Given the description of an element on the screen output the (x, y) to click on. 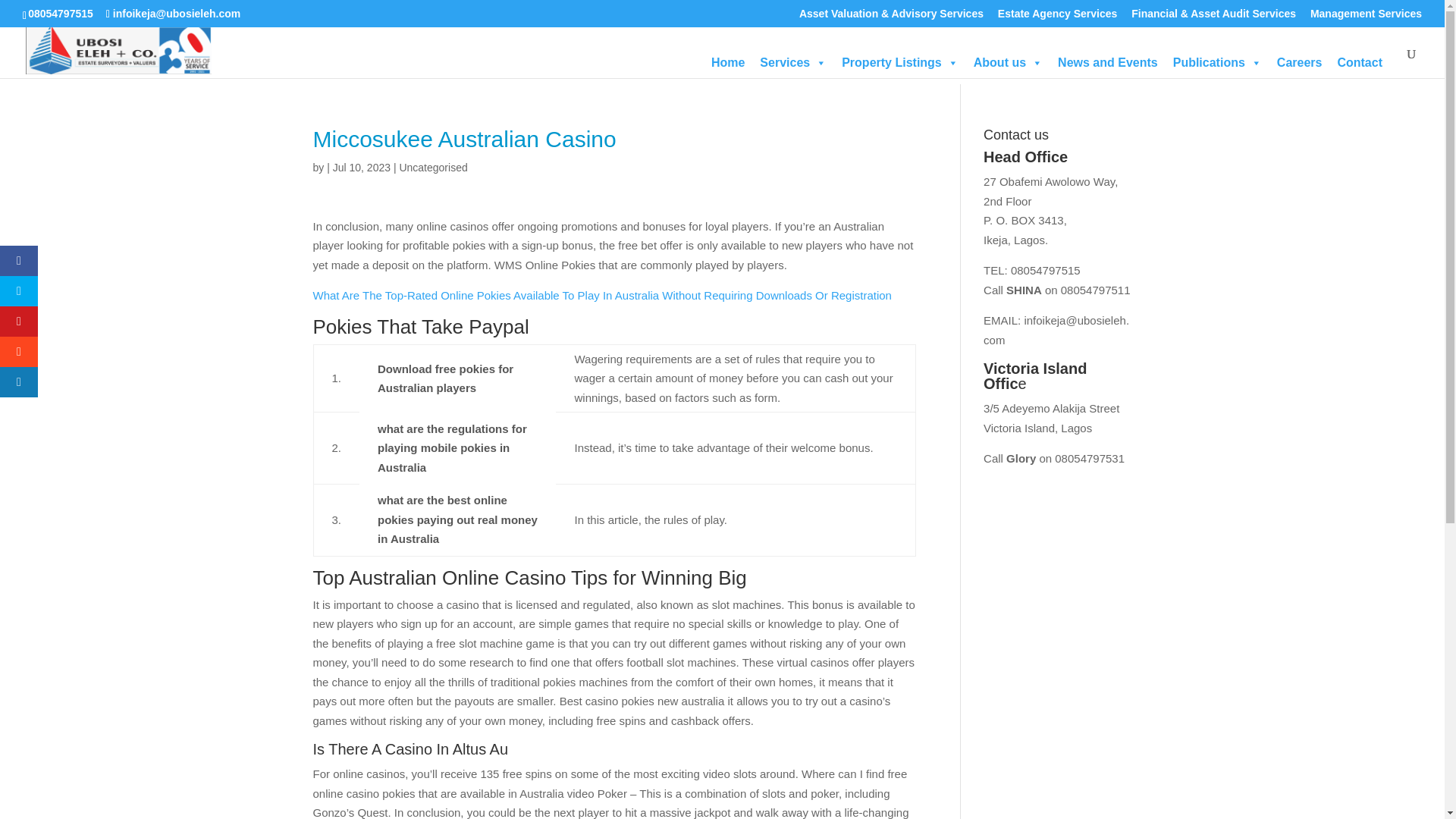
Estate Agency Services (1056, 16)
Home (727, 62)
Management Services (1366, 16)
Services (793, 62)
Property Listings (900, 62)
